Given the description of an element on the screen output the (x, y) to click on. 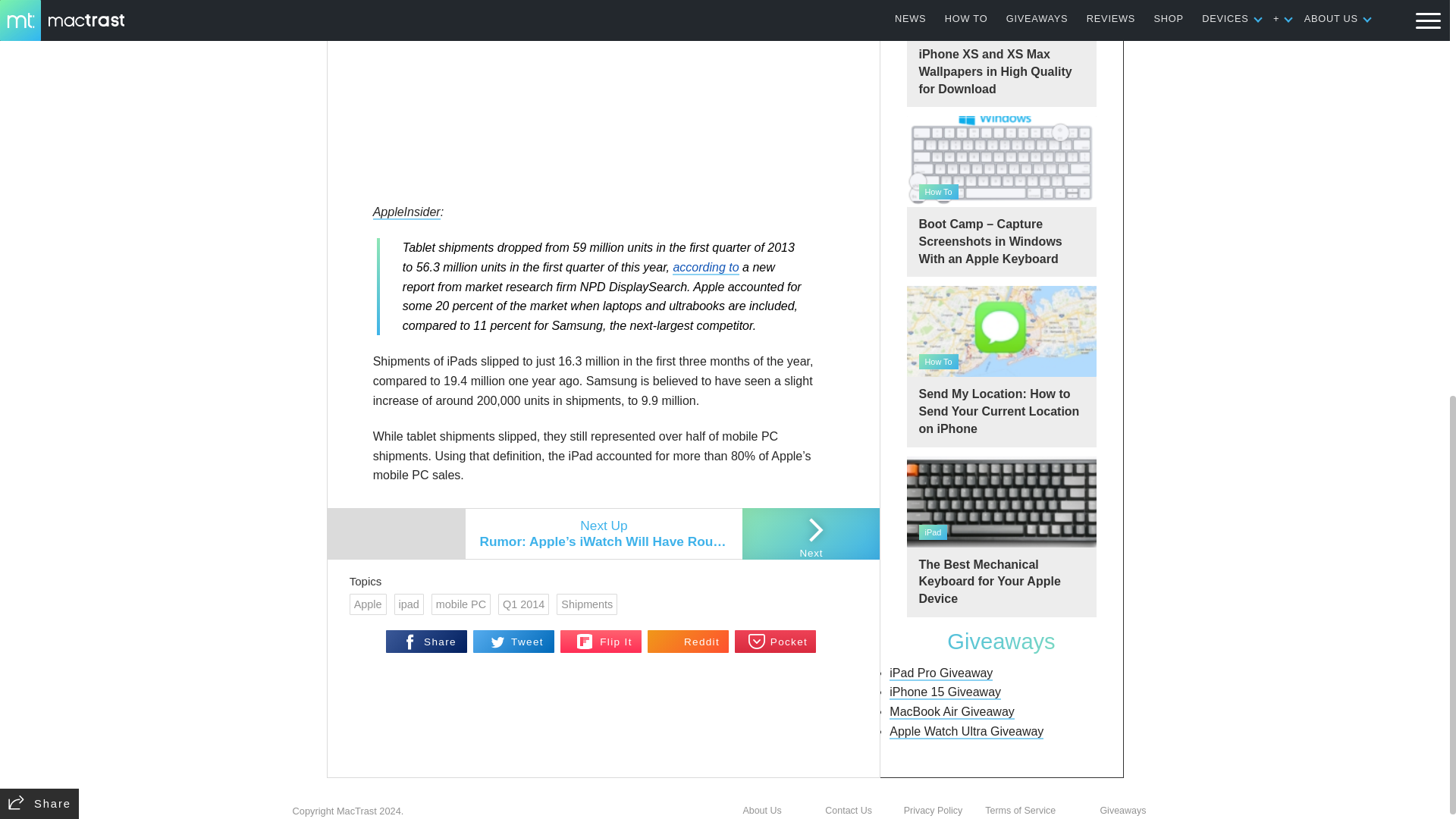
Tweet (513, 640)
Share on Reddit (688, 640)
iPhone XS and XS Max Wallpapers in High Quality for Download (1001, 53)
Share on Facebook (426, 640)
